Given the description of an element on the screen output the (x, y) to click on. 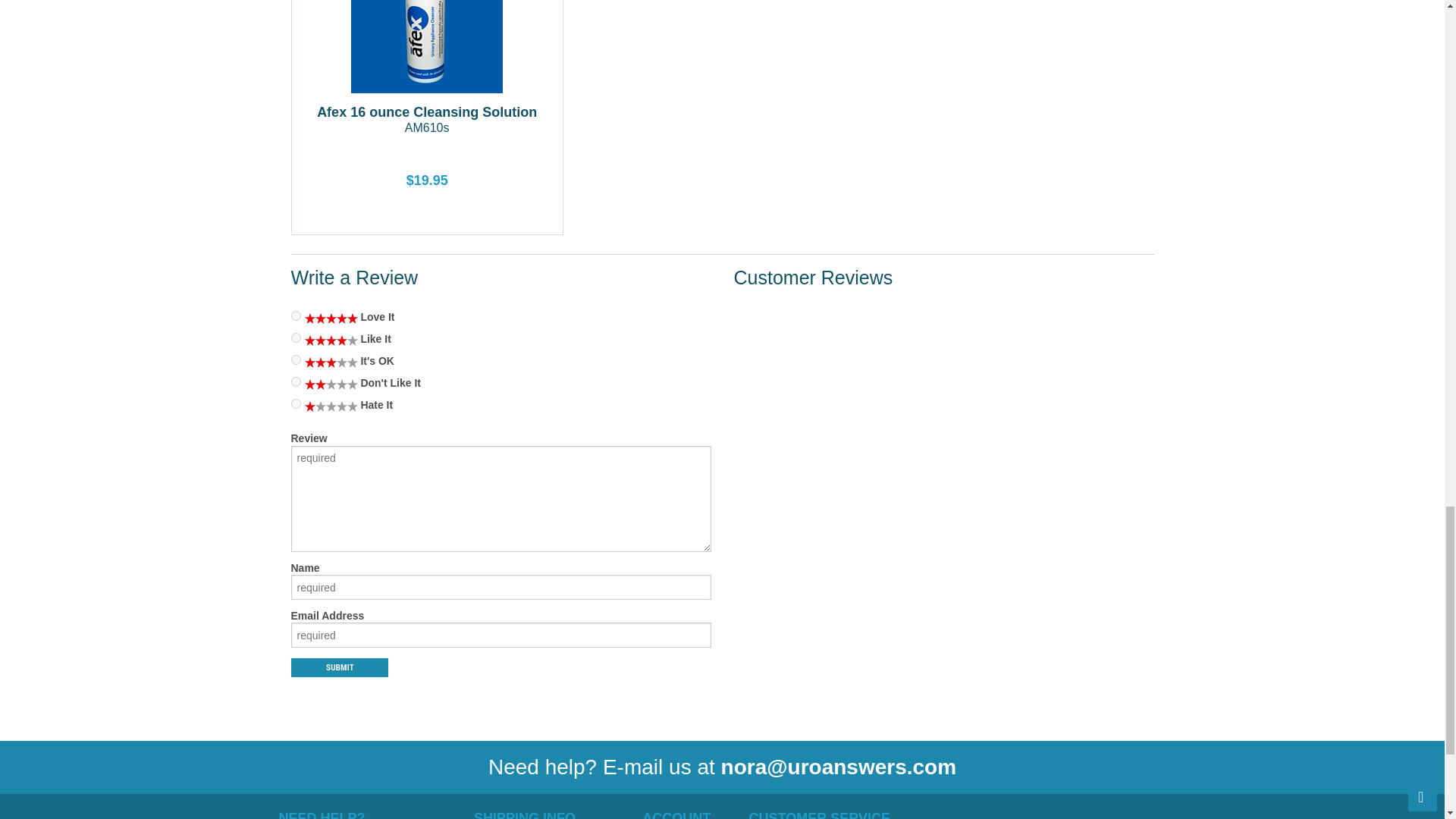
1 (296, 403)
4 (426, 119)
2 (296, 337)
3 (296, 381)
5 (296, 359)
